Given the description of an element on the screen output the (x, y) to click on. 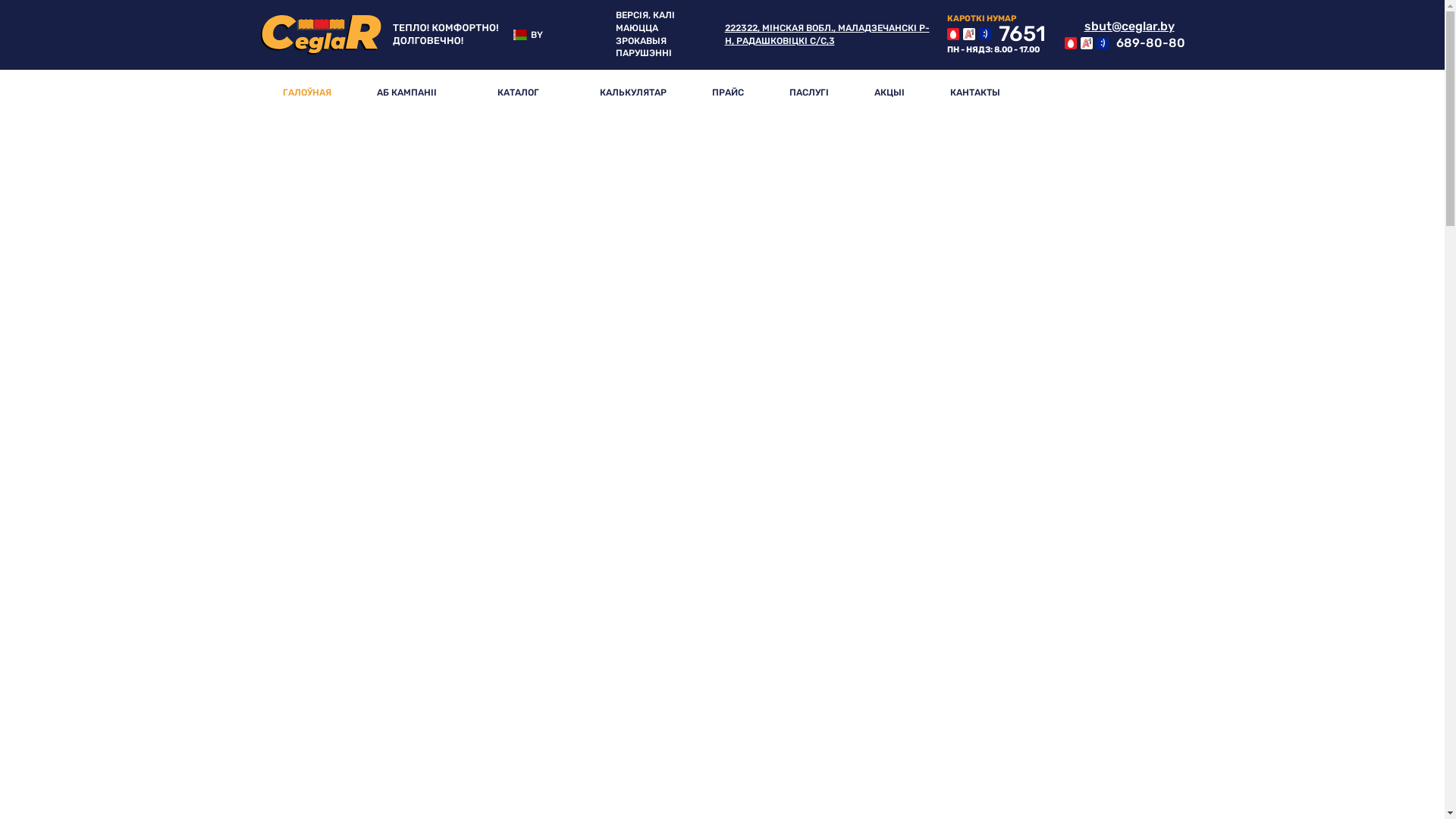
sbut@ceglar.by Element type: text (1119, 26)
689-80-80 Element type: text (1124, 42)
7651 Element type: text (995, 33)
